Given the description of an element on the screen output the (x, y) to click on. 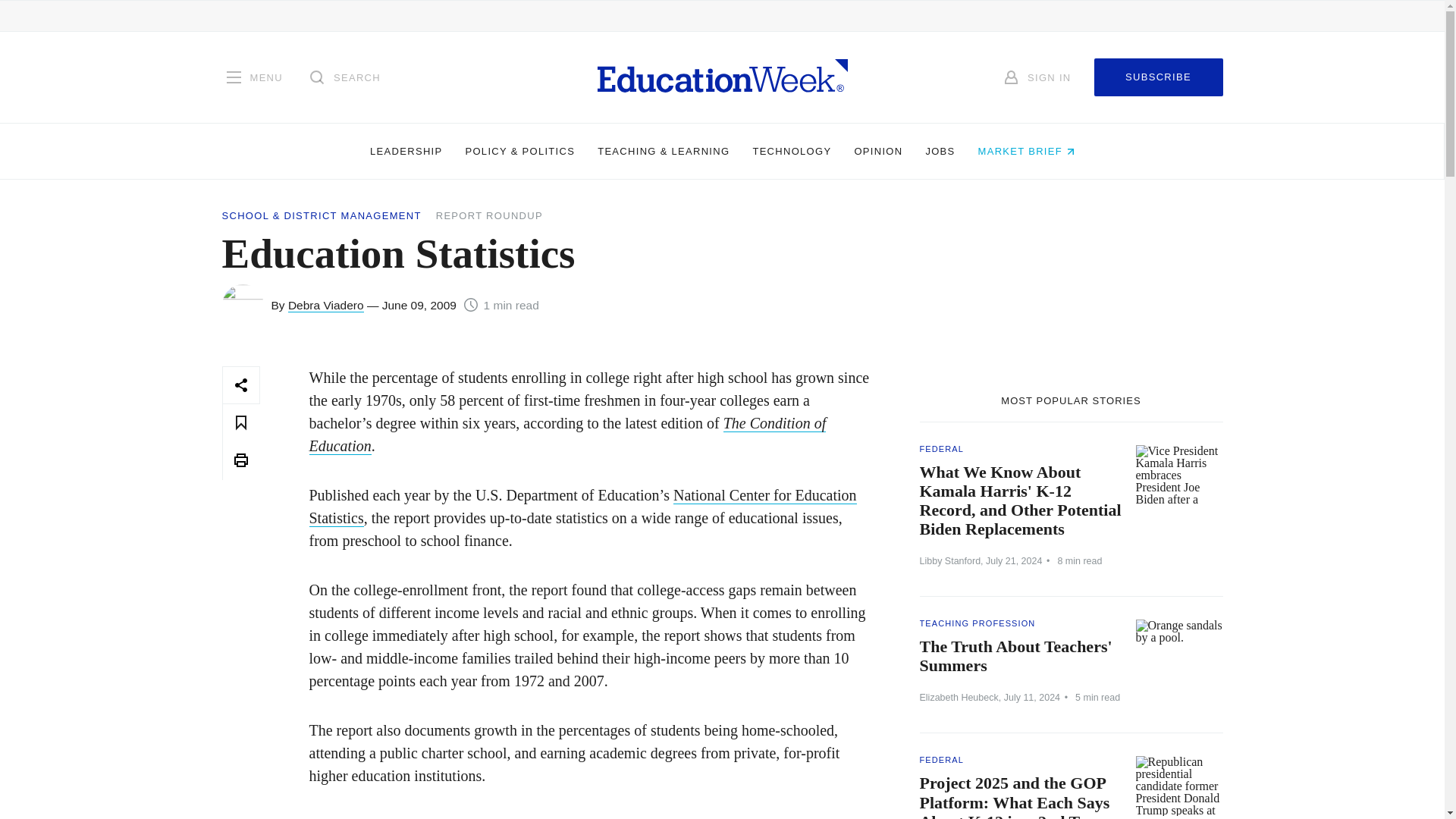
Homepage (721, 76)
